Given the description of an element on the screen output the (x, y) to click on. 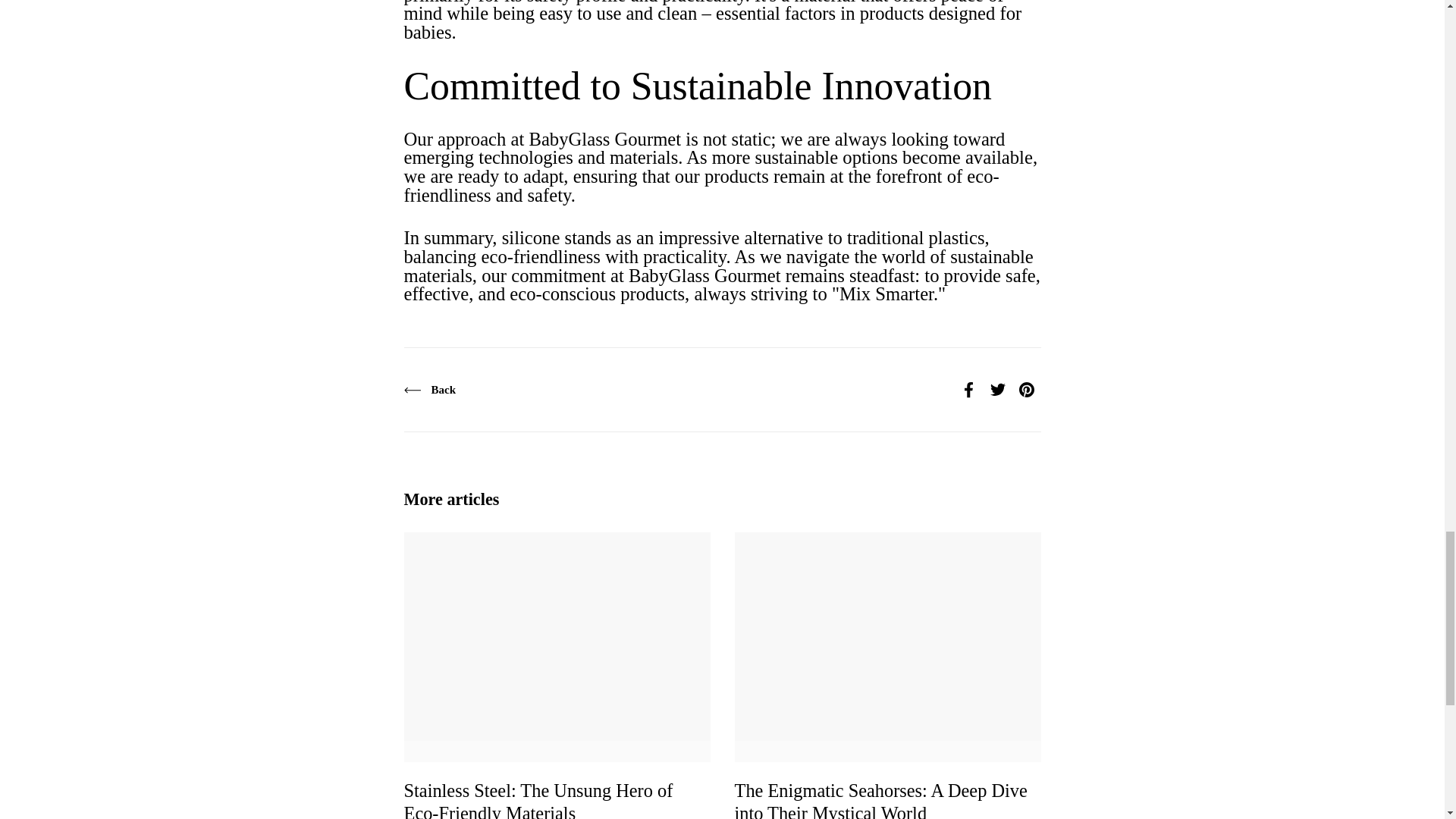
Pinterest (1026, 389)
Facebook (967, 389)
Stainless Steel: The Unsung Hero of Eco-Friendly Materials (556, 647)
Back (429, 389)
Twitter (996, 389)
Stainless Steel: The Unsung Hero of Eco-Friendly Materials (537, 803)
Stainless Steel: The Unsung Hero of Eco-Friendly Materials (537, 803)
